Given the description of an element on the screen output the (x, y) to click on. 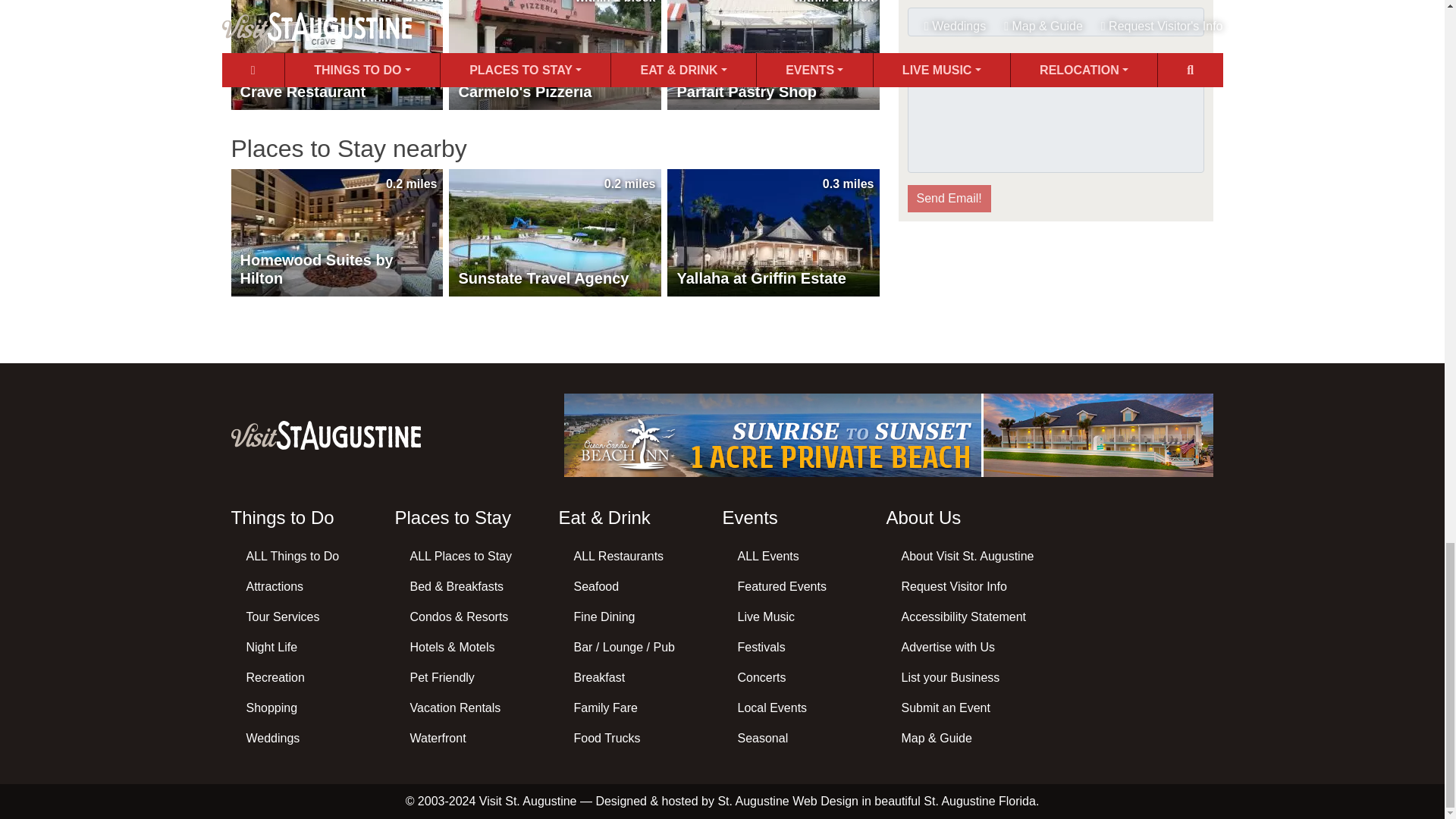
Send Email! (948, 198)
